Given the description of an element on the screen output the (x, y) to click on. 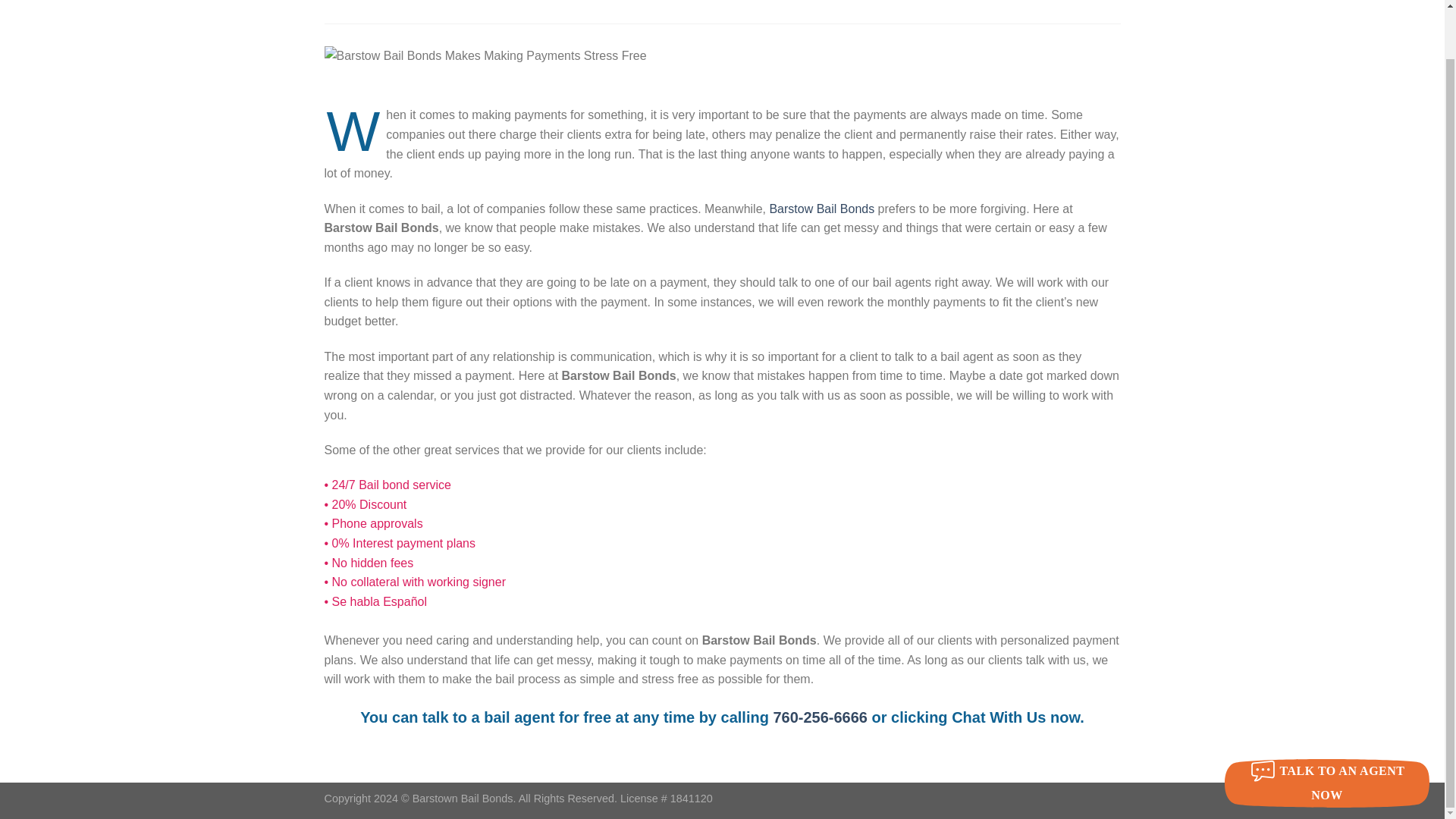
760-256-6666 (820, 717)
Barstow Bail Bonds (820, 717)
Barstow Bail Bonds (821, 208)
TALK TO AN AGENT NOW (1326, 730)
Barstow Bail Bonds (821, 208)
Barstow Bail Bonds (464, 11)
